Given the description of an element on the screen output the (x, y) to click on. 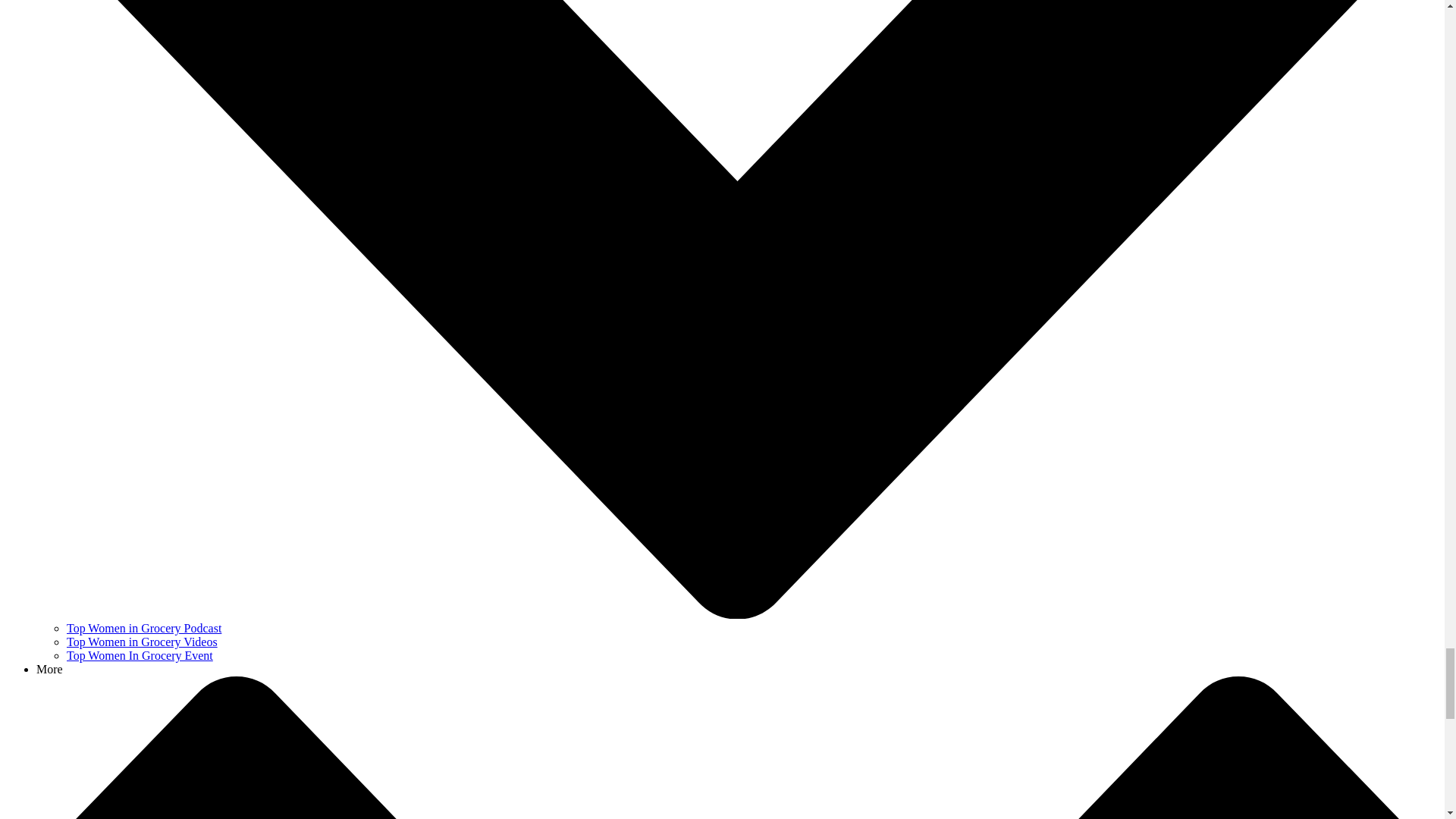
More (49, 668)
Top Women In Grocery Event (139, 655)
Top Women in Grocery Videos (141, 641)
Top Women in Grocery Podcast (143, 627)
